Given the description of an element on the screen output the (x, y) to click on. 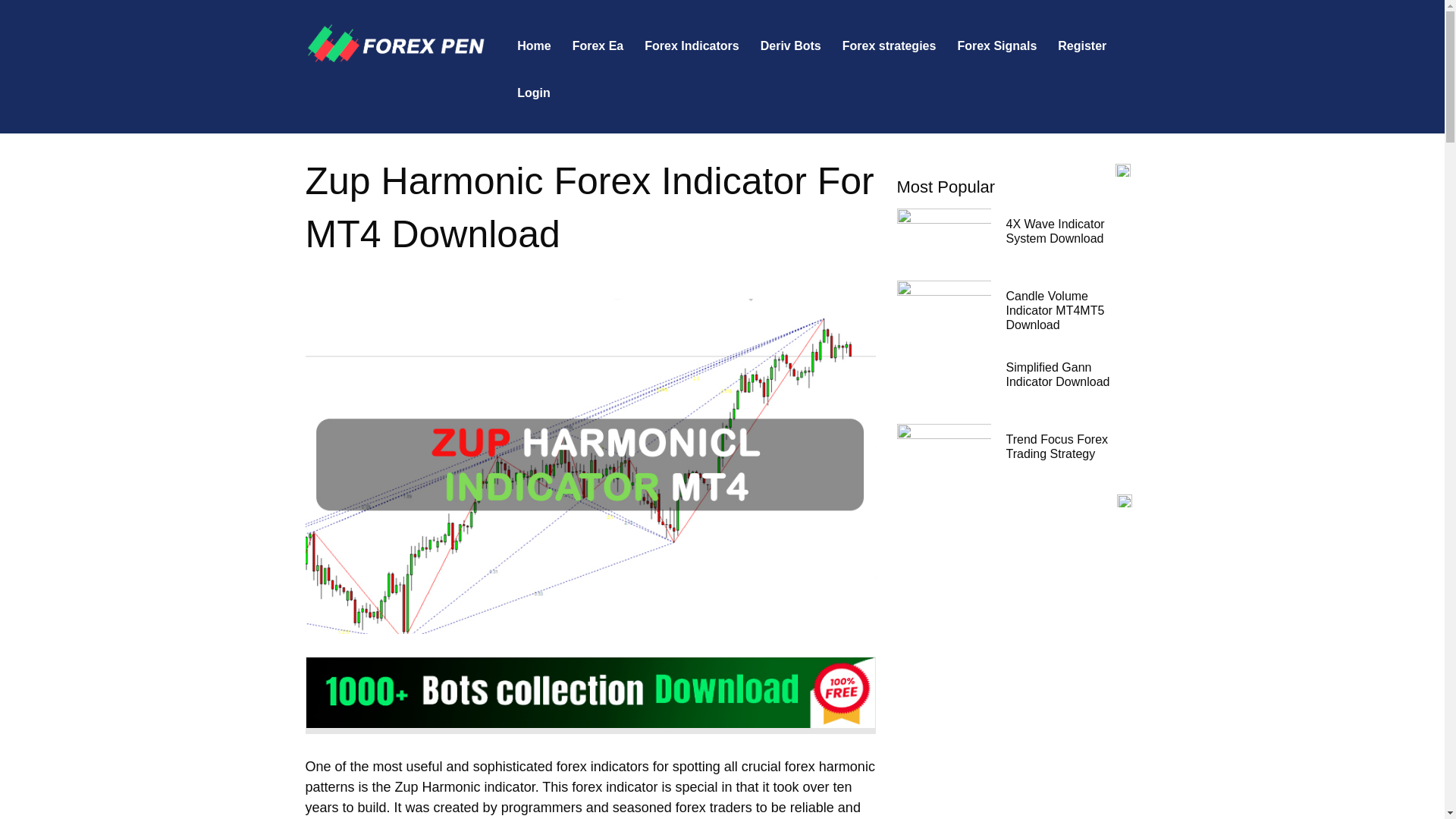
Candle Volume Indicator MT4MT5 Download (1054, 310)
Trend Focus Forex Trading Strategy (1057, 446)
Simplified Gann Indicator Download (1057, 374)
Forex Signals (996, 45)
Home (533, 45)
Deriv Bots (790, 45)
4X Wave Indicator System Download (1054, 230)
Register (1081, 45)
Login (533, 93)
Forex Ea (598, 45)
